Given the description of an element on the screen output the (x, y) to click on. 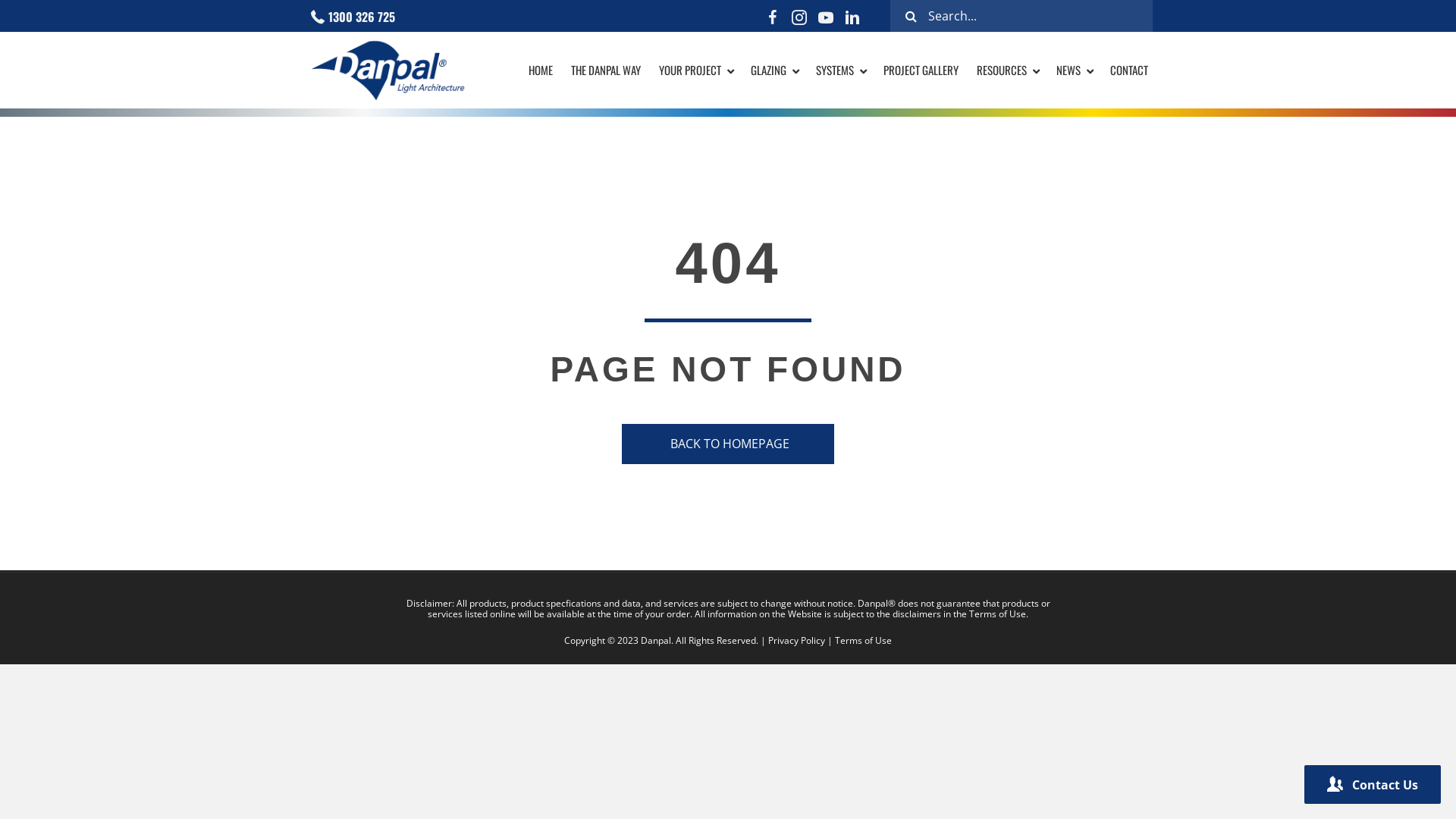
YOUR PROJECT Element type: text (695, 70)
Contact Us Element type: text (1372, 784)
CONTACT Element type: text (1129, 70)
PROJECT GALLERY Element type: text (920, 70)
BACK TO HOMEPAGE Element type: text (727, 443)
NEWS Element type: text (1074, 70)
1300 326 725 Element type: text (361, 16)
Terms of Use Element type: text (862, 639)
GLAZING Element type: text (773, 70)
RESOURCES Element type: text (1007, 70)
HOME Element type: text (540, 70)
SYSTEMS Element type: text (840, 70)
Danpal Element type: hover (387, 70)
Privacy Policy Element type: text (796, 639)
THE DANPAL WAY Element type: text (605, 70)
